Given the description of an element on the screen output the (x, y) to click on. 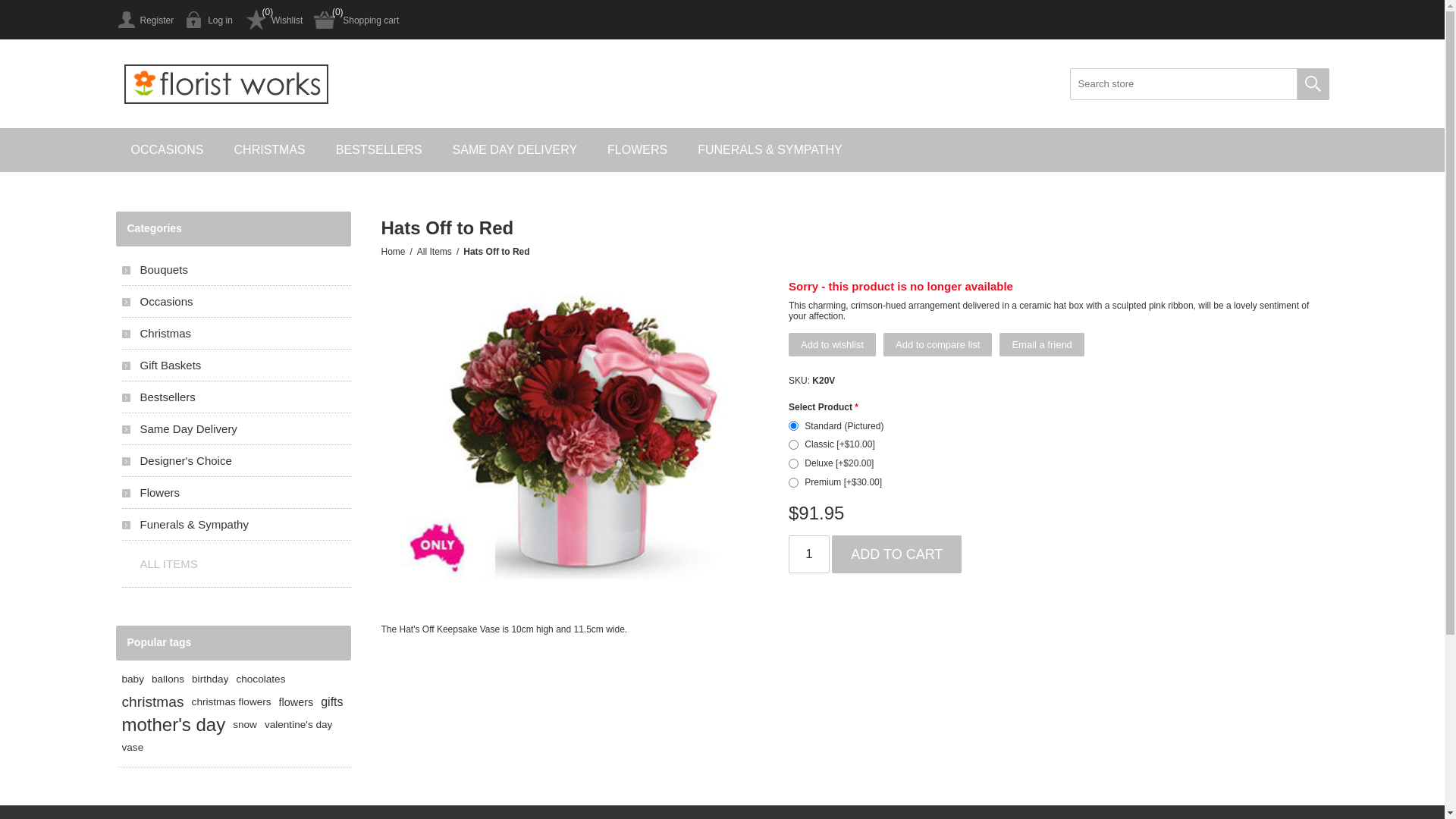
birthday Element type: text (209, 679)
flowers Element type: text (296, 701)
Add to cart Element type: text (896, 554)
Add to compare list Element type: text (937, 344)
Home Element type: text (392, 251)
Picture of Hats Off to Red Element type: hover (570, 429)
chocolates Element type: text (260, 679)
ballons Element type: text (167, 679)
OCCASIONS Element type: text (166, 150)
Bestsellers Element type: text (235, 396)
SAME DAY DELIVERY Element type: text (515, 150)
mother's day Element type: text (173, 724)
BESTSELLERS Element type: text (378, 150)
Bouquets Element type: text (235, 269)
Same Day Delivery Element type: text (235, 428)
baby Element type: text (132, 679)
Wishlist Element type: text (273, 19)
valentine's day Element type: text (298, 724)
Funerals & Sympathy Element type: text (235, 523)
Register Element type: text (144, 19)
CHRISTMAS Element type: text (269, 150)
Log in Element type: text (208, 19)
christmas flowers Element type: text (231, 701)
Search Element type: text (1312, 84)
Christmas Element type: text (235, 332)
FUNERALS & SYMPATHY Element type: text (769, 150)
Email a friend Element type: text (1041, 344)
All Items Element type: text (434, 251)
Flowers Element type: text (235, 492)
Occasions Element type: text (235, 300)
vase Element type: text (132, 747)
Designer's Choice Element type: text (235, 460)
Add to wishlist Element type: text (831, 344)
Shopping cart Element type: text (355, 19)
ALL ITEMS Element type: text (235, 563)
Gift Baskets Element type: text (235, 364)
gifts Element type: text (331, 701)
christmas Element type: text (152, 701)
snow Element type: text (244, 724)
FLOWERS Element type: text (637, 150)
